Given the description of an element on the screen output the (x, y) to click on. 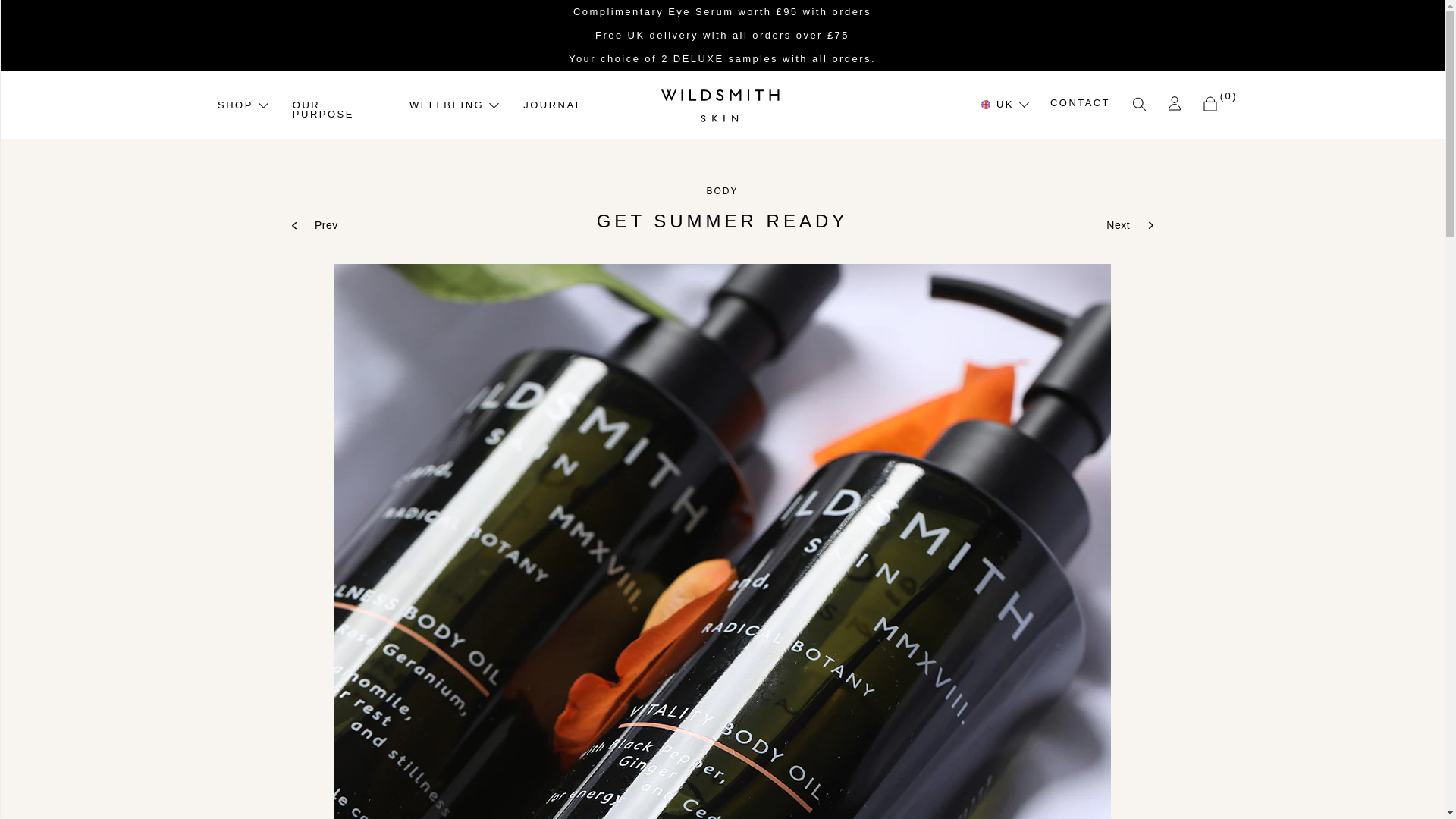
UK (1004, 104)
OUR PURPOSE (338, 109)
SHOP (241, 105)
WELLBEING (453, 105)
CONTACT (1079, 102)
JOURNAL (552, 105)
